Given the description of an element on the screen output the (x, y) to click on. 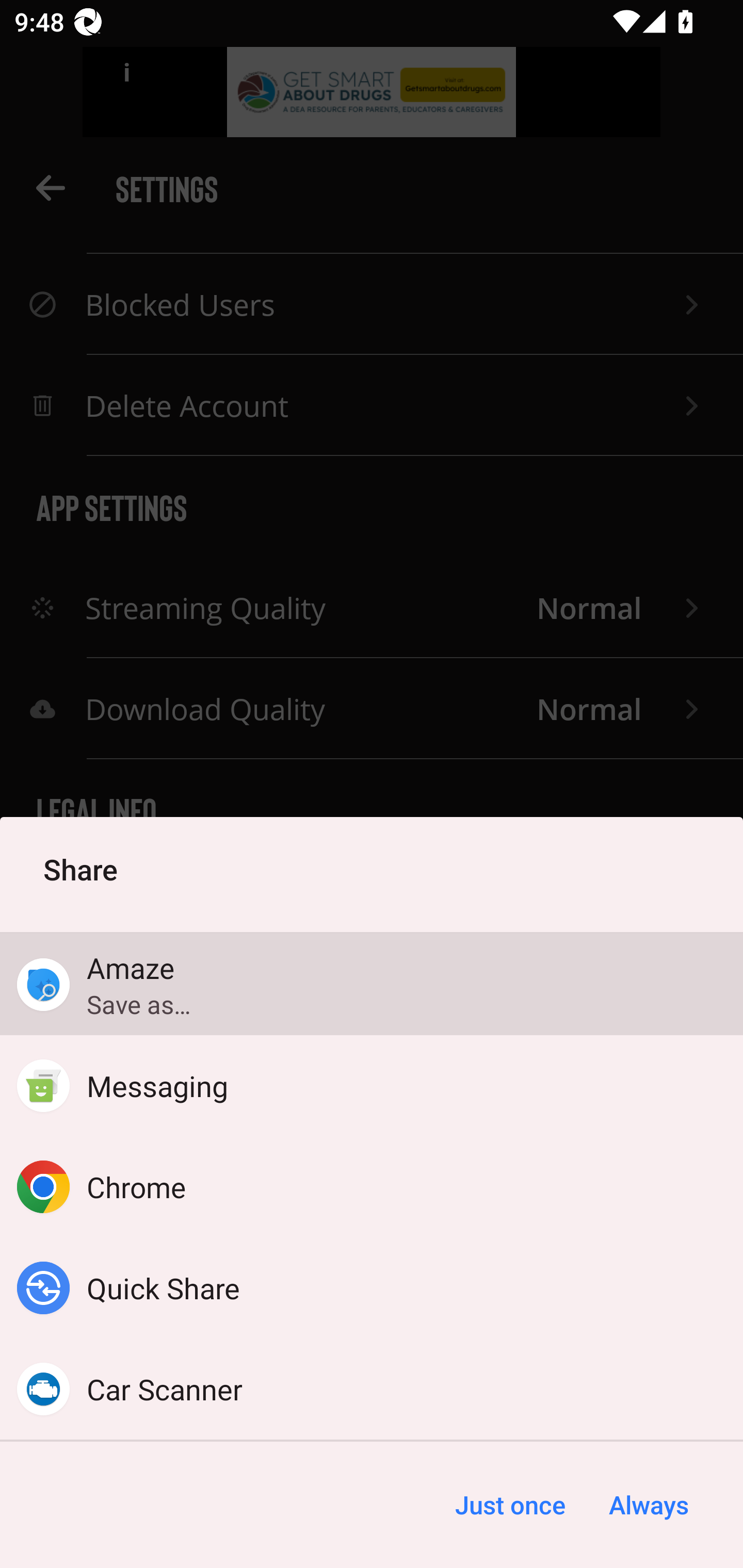
Amaze Save as… (371, 984)
Messaging (371, 1085)
Chrome (371, 1186)
Quick Share (371, 1288)
Car Scanner (371, 1389)
Just once (509, 1504)
Always (648, 1504)
